Given the description of an element on the screen output the (x, y) to click on. 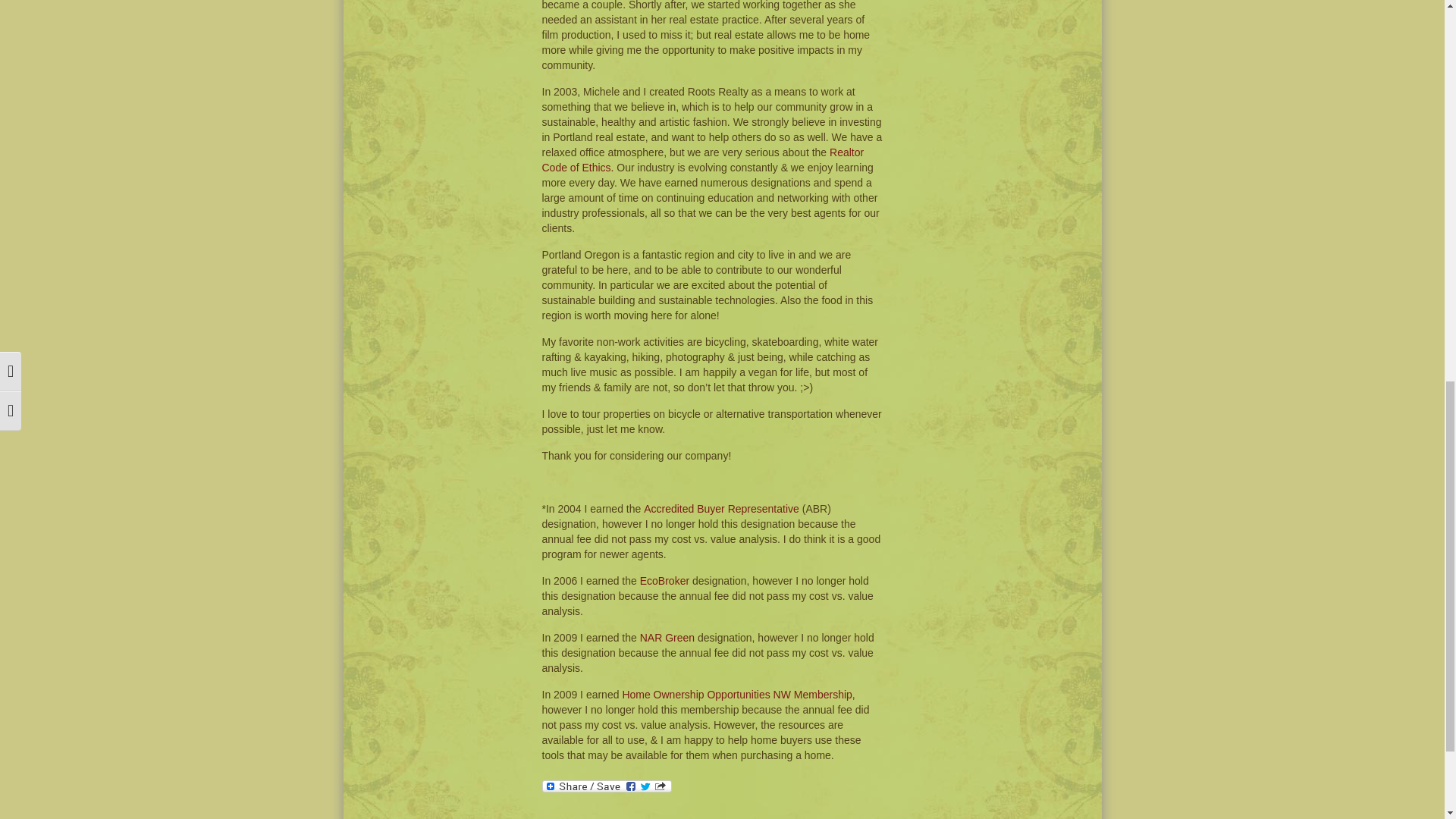
Realtor Code of Ethics. (702, 159)
Accredited Buyer Representative (721, 508)
EcoBroker (664, 580)
